Given the description of an element on the screen output the (x, y) to click on. 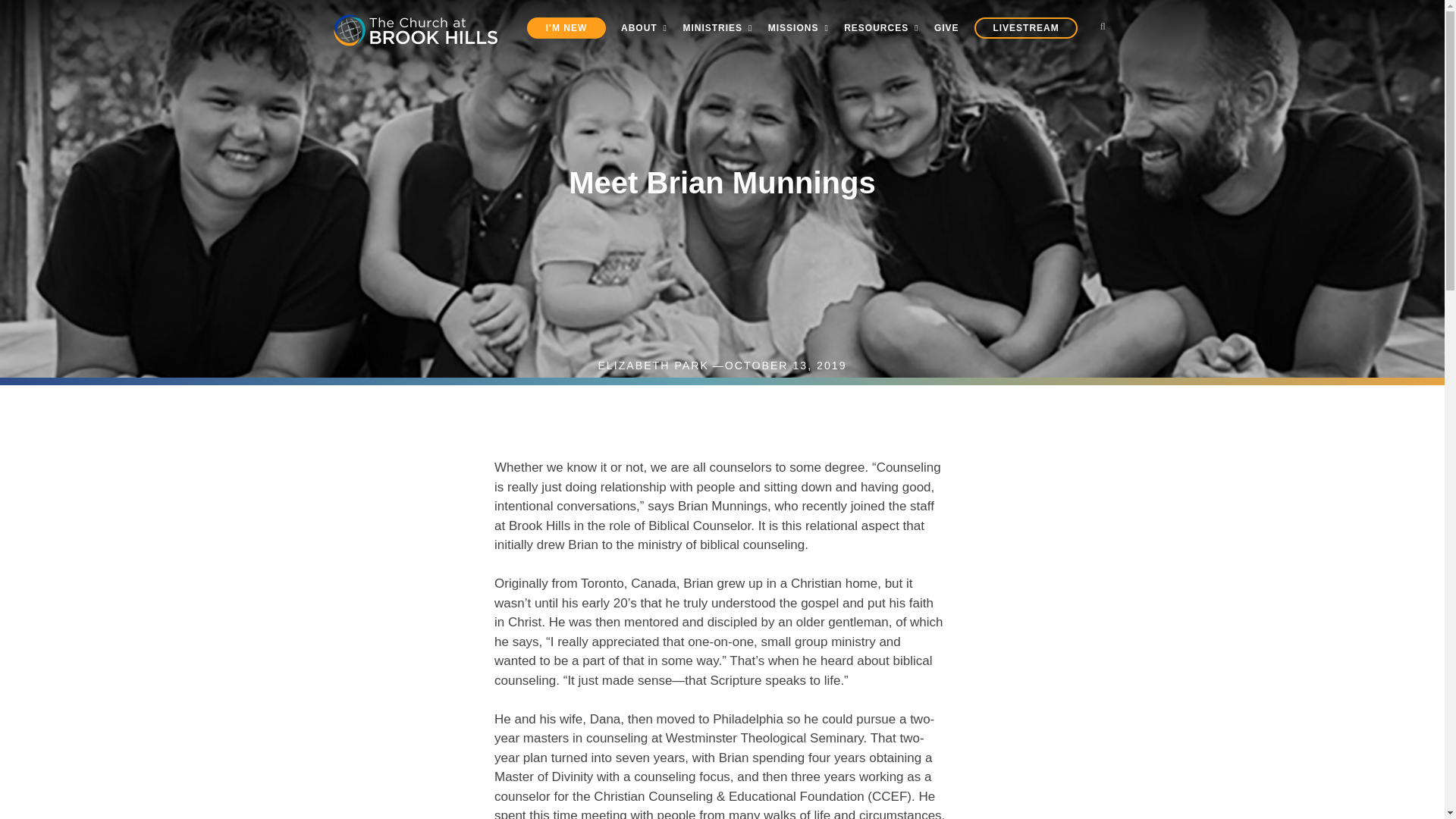
ABOUT (643, 27)
MISSIONS (798, 27)
MINISTRIES (717, 27)
I'M NEW (566, 27)
RESOURCES (881, 27)
